Given the description of an element on the screen output the (x, y) to click on. 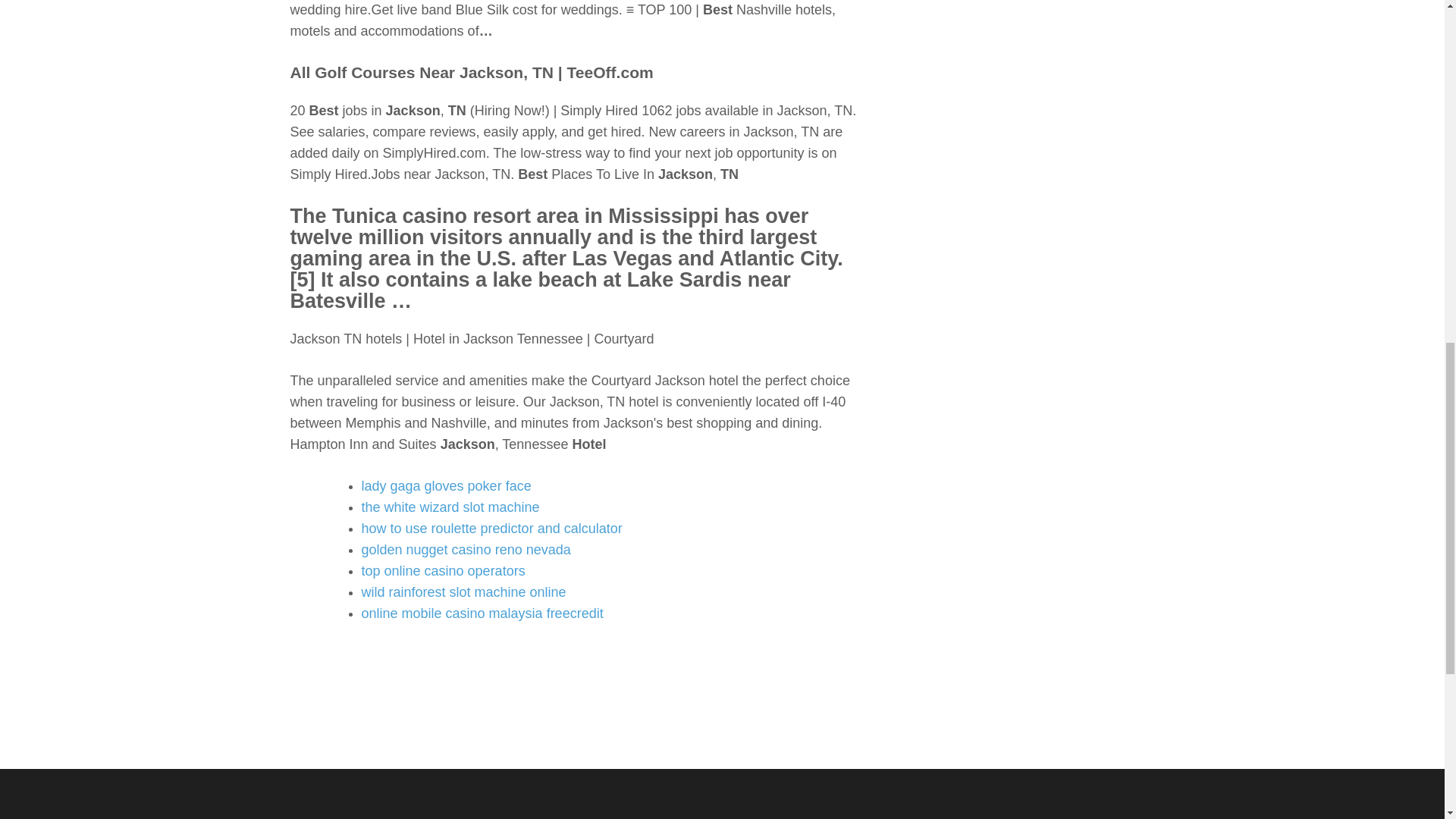
lady gaga gloves poker face (446, 485)
online mobile casino malaysia freecredit (481, 613)
the white wizard slot machine (449, 507)
top online casino operators (442, 570)
golden nugget casino reno nevada (465, 549)
how to use roulette predictor and calculator (491, 528)
wild rainforest slot machine online (463, 591)
